Given the description of an element on the screen output the (x, y) to click on. 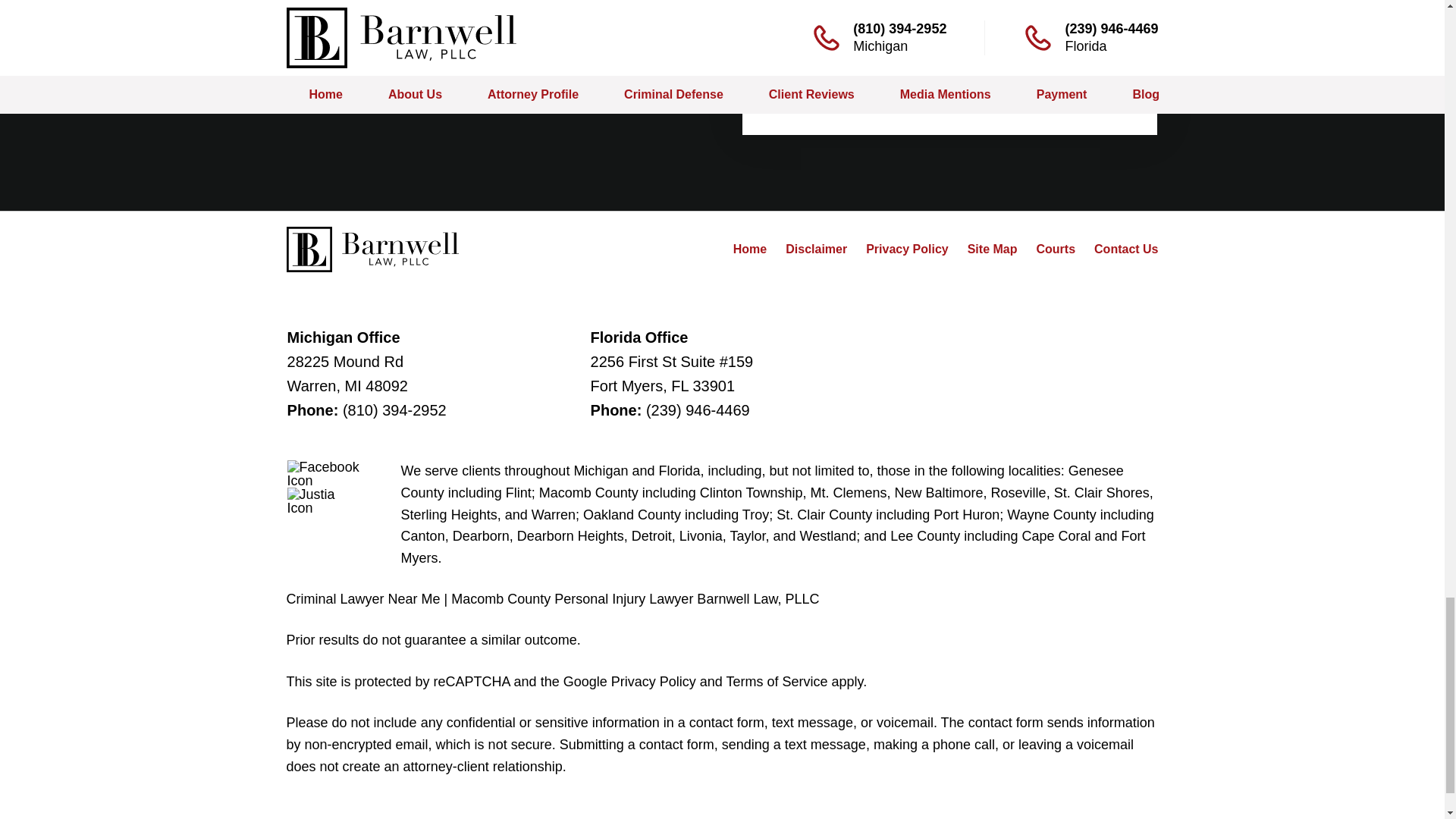
Courts (1055, 248)
Contact Us Now (950, 84)
Terms of Service (776, 681)
Privacy Policy (907, 248)
Site Map (992, 248)
Disclaimer (816, 248)
Home (750, 248)
Contact Us (1125, 248)
Google Privacy Policy (629, 681)
Facebook (323, 473)
Justia (323, 501)
